Given the description of an element on the screen output the (x, y) to click on. 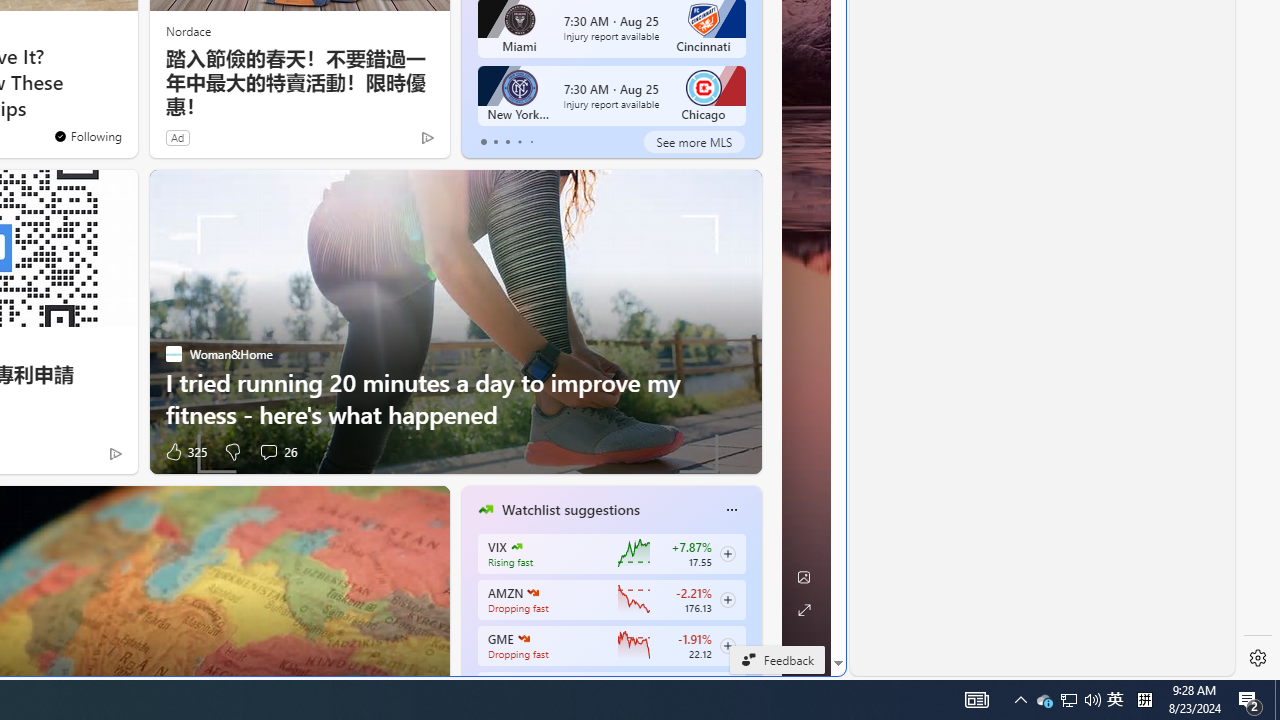
tab-4 (530, 142)
See more MLS (694, 142)
View comments 26 Comment (268, 452)
Class: icon-img (731, 509)
View comments 26 Comment (276, 451)
CBOE Market Volatility Index (516, 546)
GAMESTOP CORP. (523, 638)
AMAZON.COM, INC. (532, 592)
325 Like (184, 451)
tab-2 (507, 142)
